Given the description of an element on the screen output the (x, y) to click on. 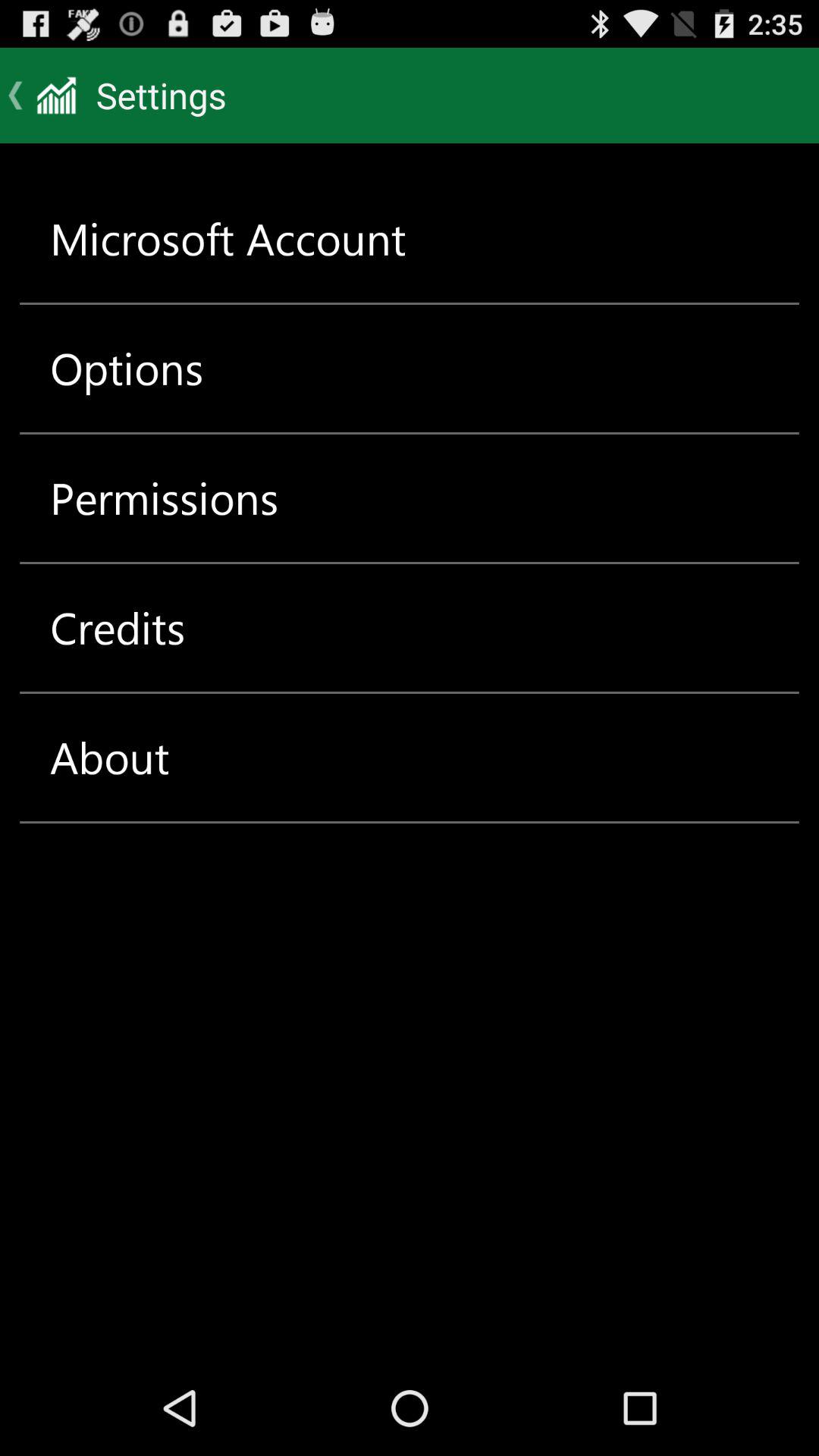
press the icon above the permissions icon (126, 368)
